Given the description of an element on the screen output the (x, y) to click on. 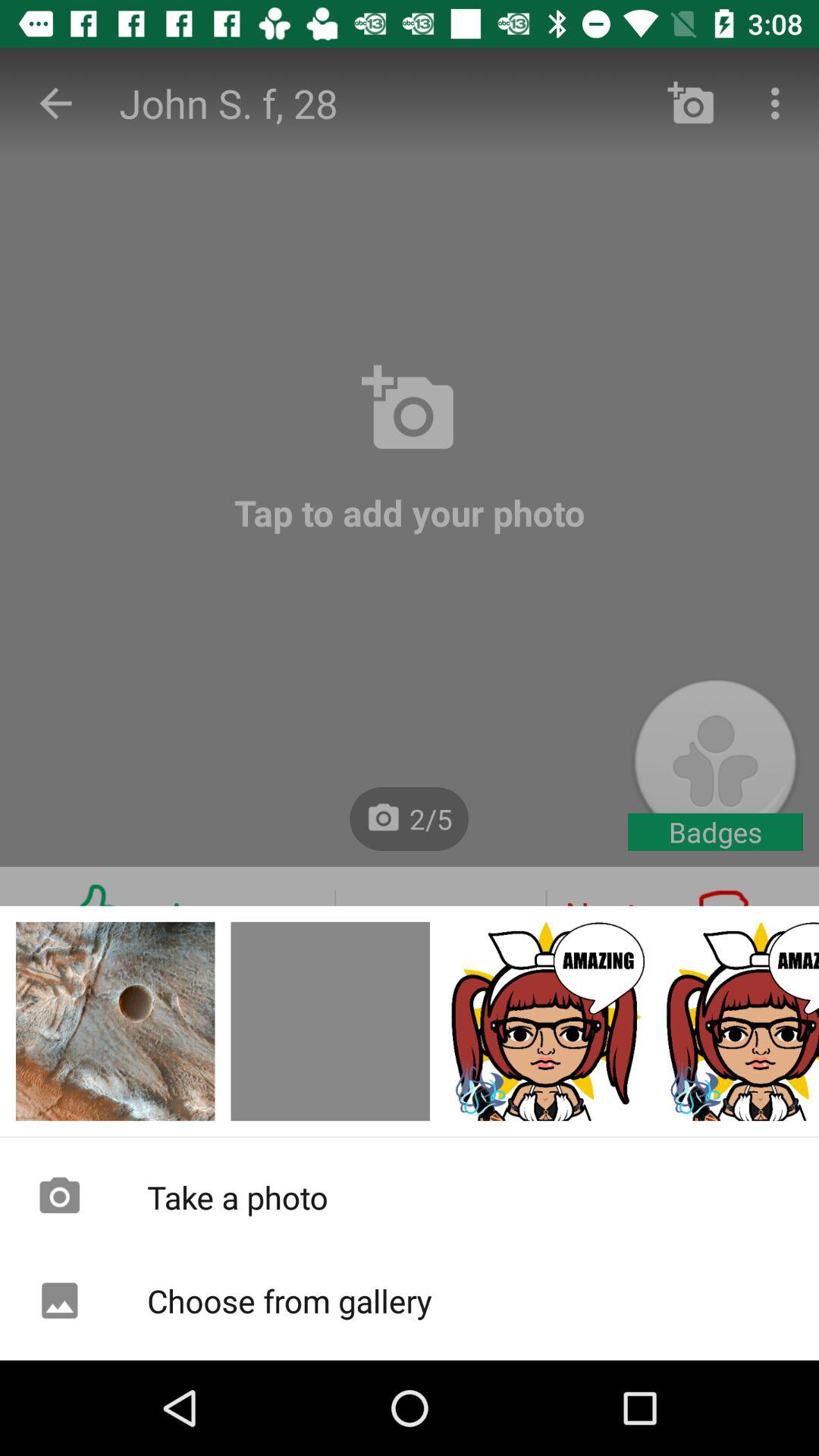
select to picture (114, 1021)
